Given the description of an element on the screen output the (x, y) to click on. 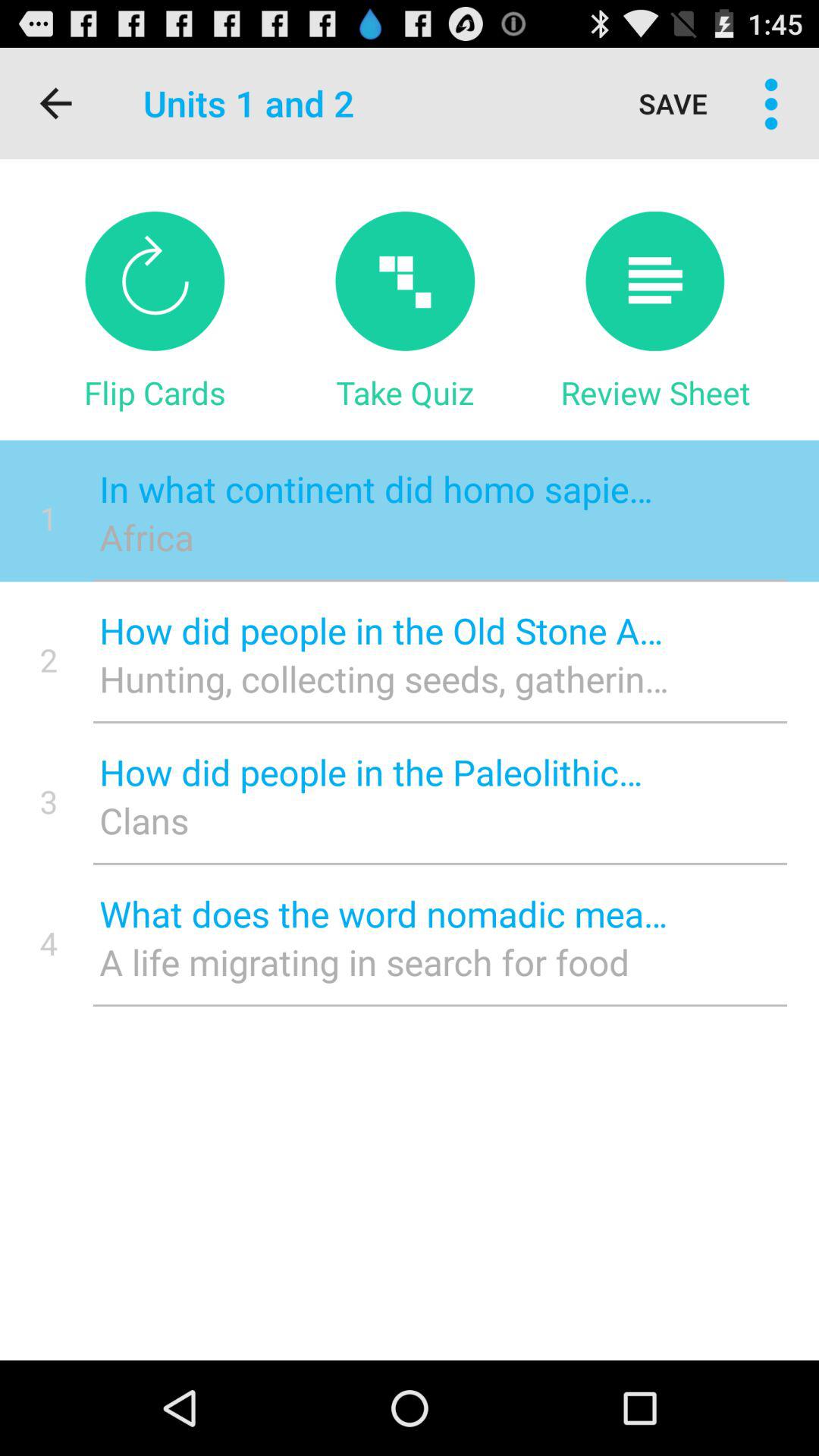
tap review sheet (655, 392)
